Given the description of an element on the screen output the (x, y) to click on. 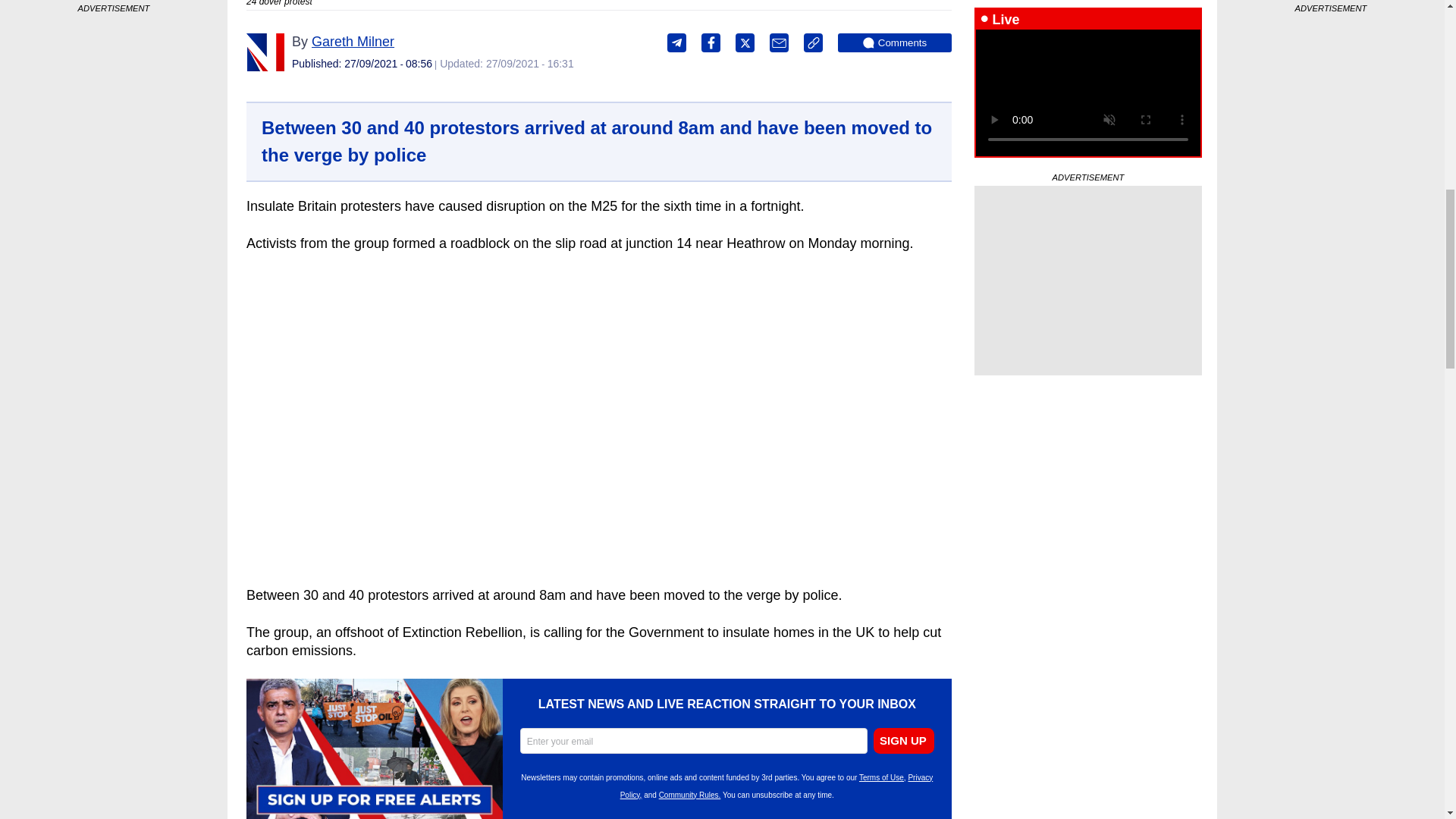
Gareth Milner (264, 52)
Copy this link to clipboard (812, 42)
Gareth Milner (352, 41)
